Given the description of an element on the screen output the (x, y) to click on. 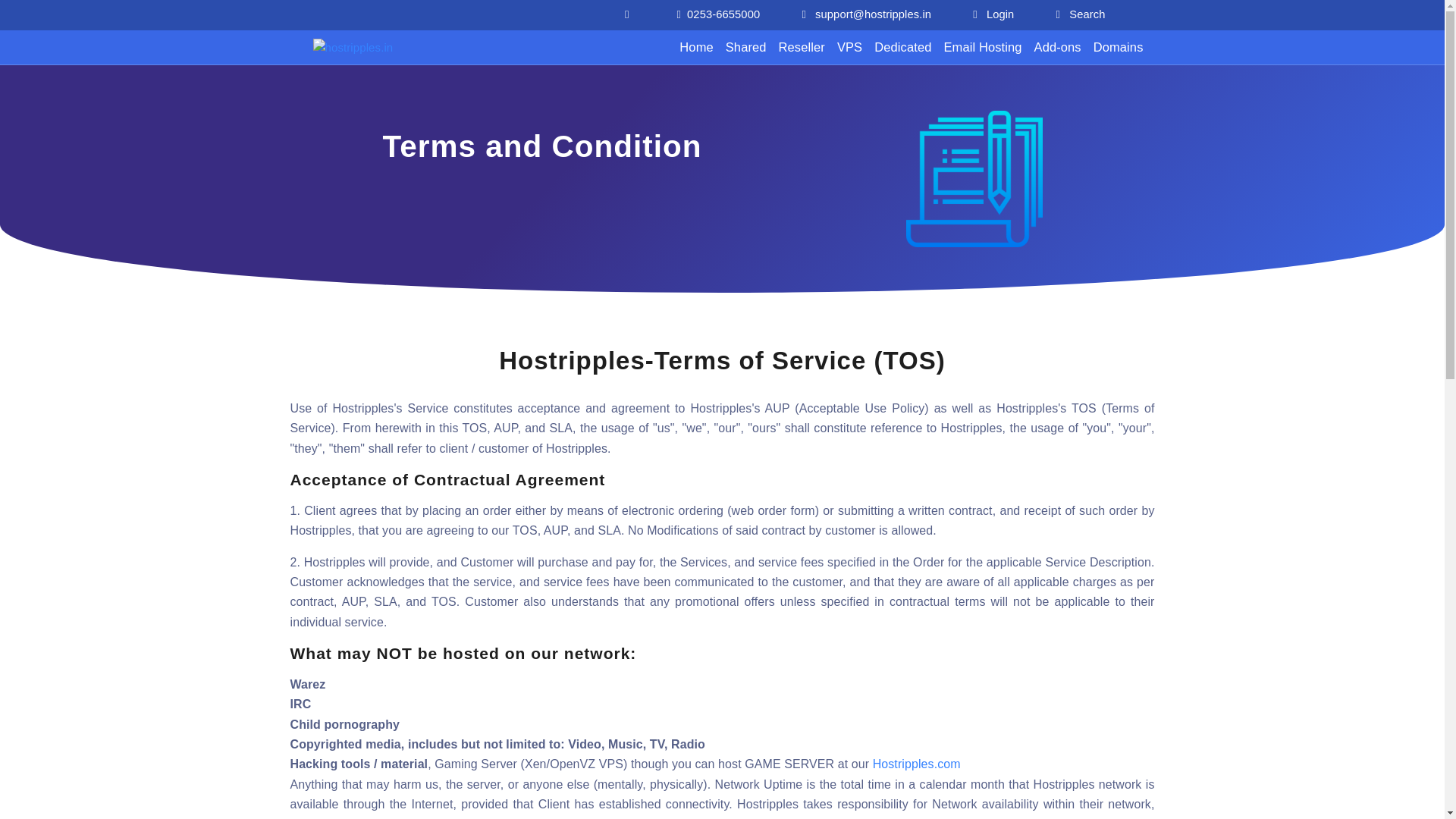
Add-ons (1057, 47)
Search (1081, 14)
Login (992, 14)
Reseller (801, 47)
Home (696, 47)
Dedicated (903, 47)
Email Hosting (982, 47)
0253-6655000 (718, 14)
Shared (746, 47)
